Given the description of an element on the screen output the (x, y) to click on. 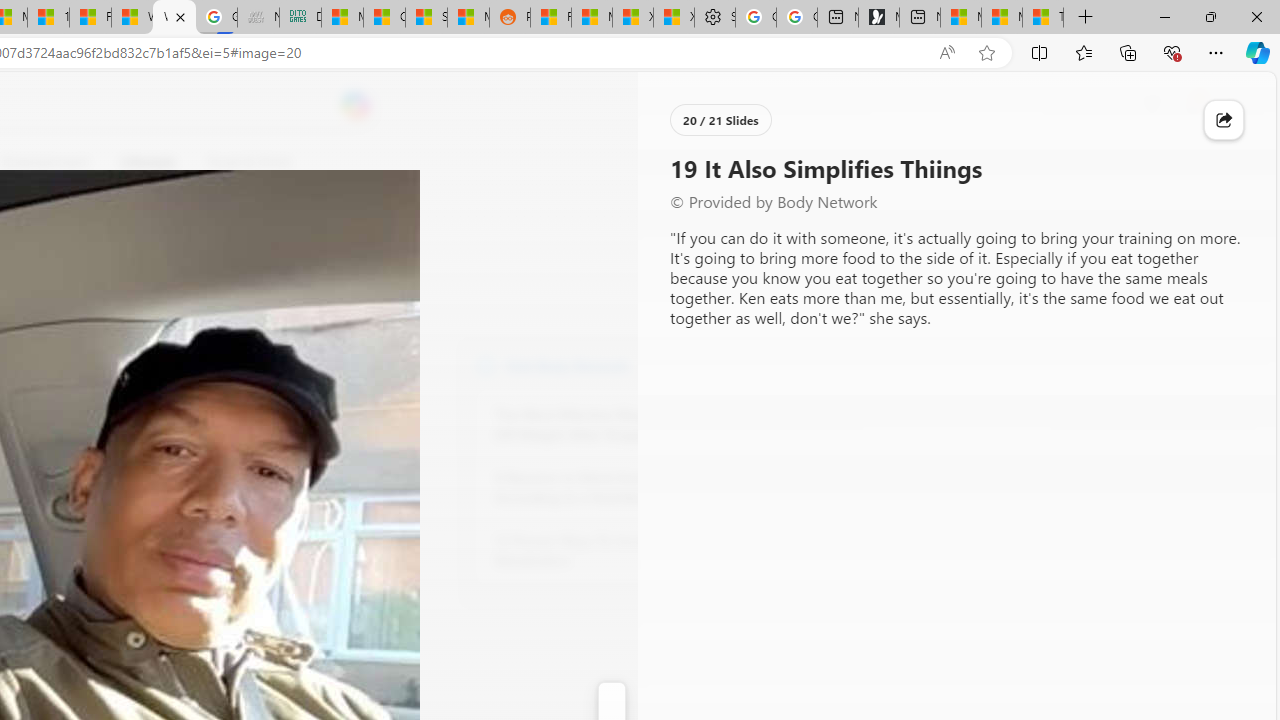
Fitness - MSN (90, 17)
Personalize (711, 162)
Go to publisher's site (180, 258)
Food & Drink (249, 162)
R******* | Trusted Community Engagement and Contributions (550, 17)
Notifications (1192, 105)
Navy Quest (258, 17)
